Given the description of an element on the screen output the (x, y) to click on. 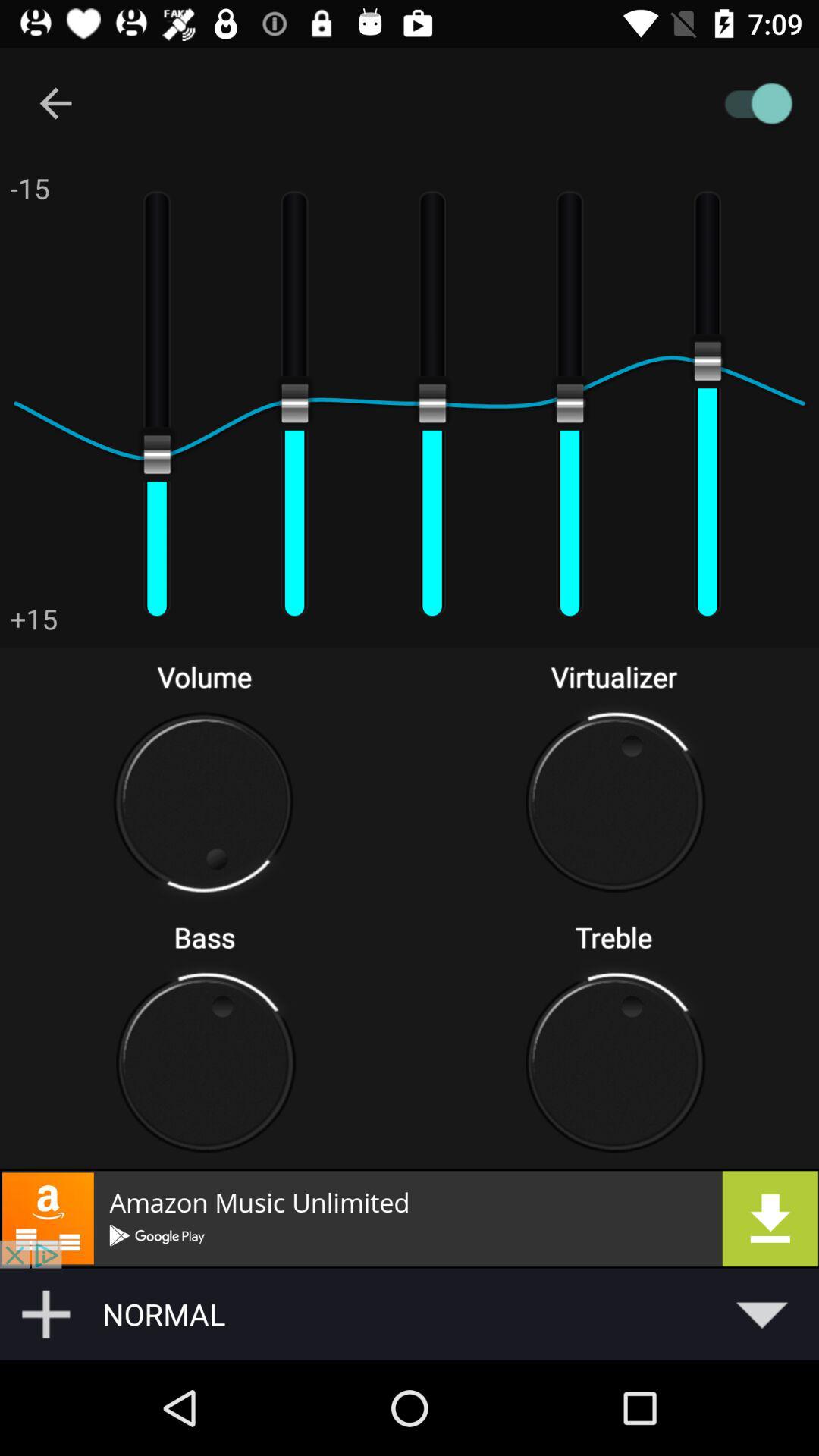
opens downloadable advertisement (409, 1218)
